Given the description of an element on the screen output the (x, y) to click on. 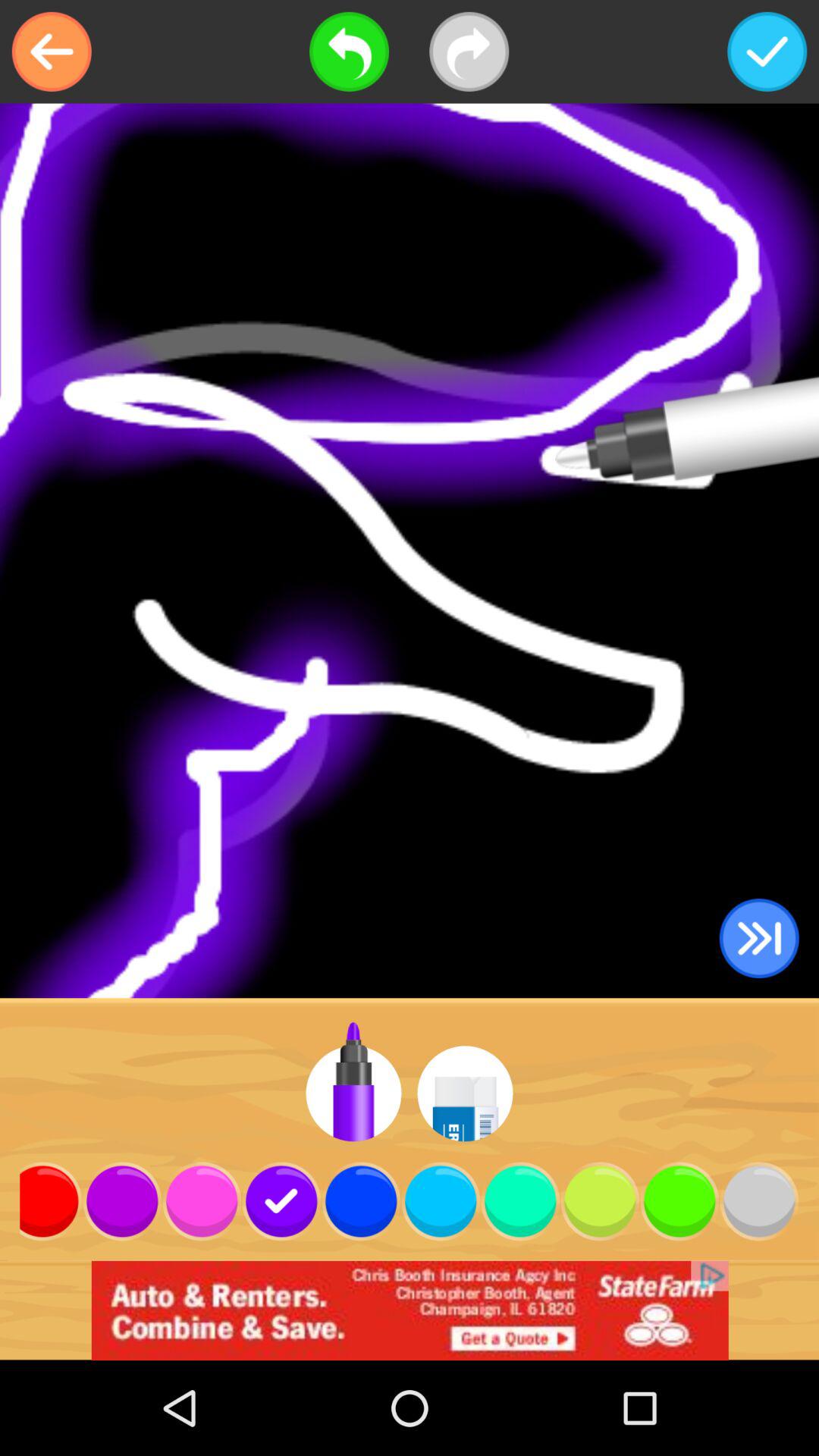
next button (469, 51)
